Given the description of an element on the screen output the (x, y) to click on. 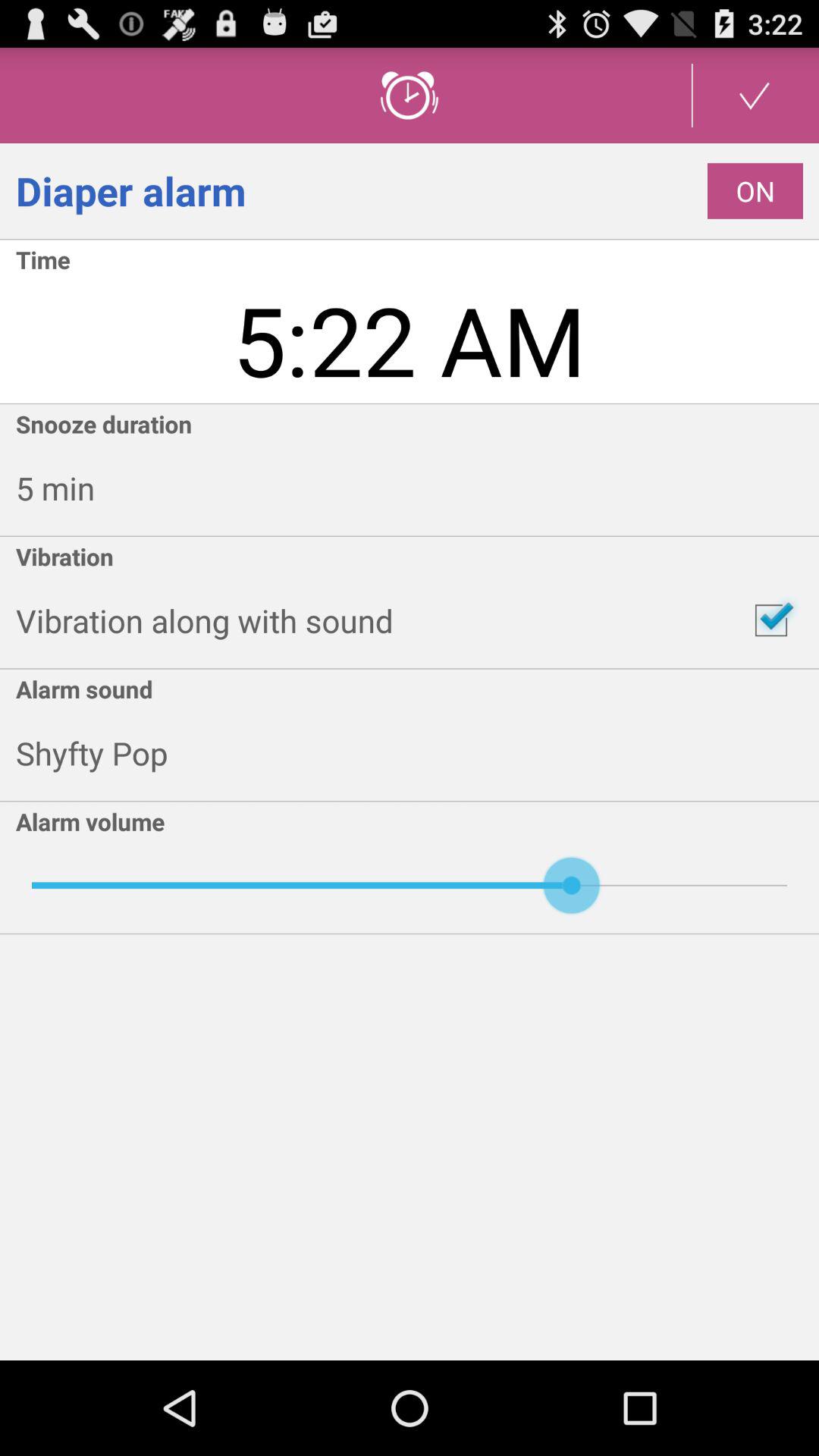
swipe until the shyfty pop button (417, 752)
